Given the description of an element on the screen output the (x, y) to click on. 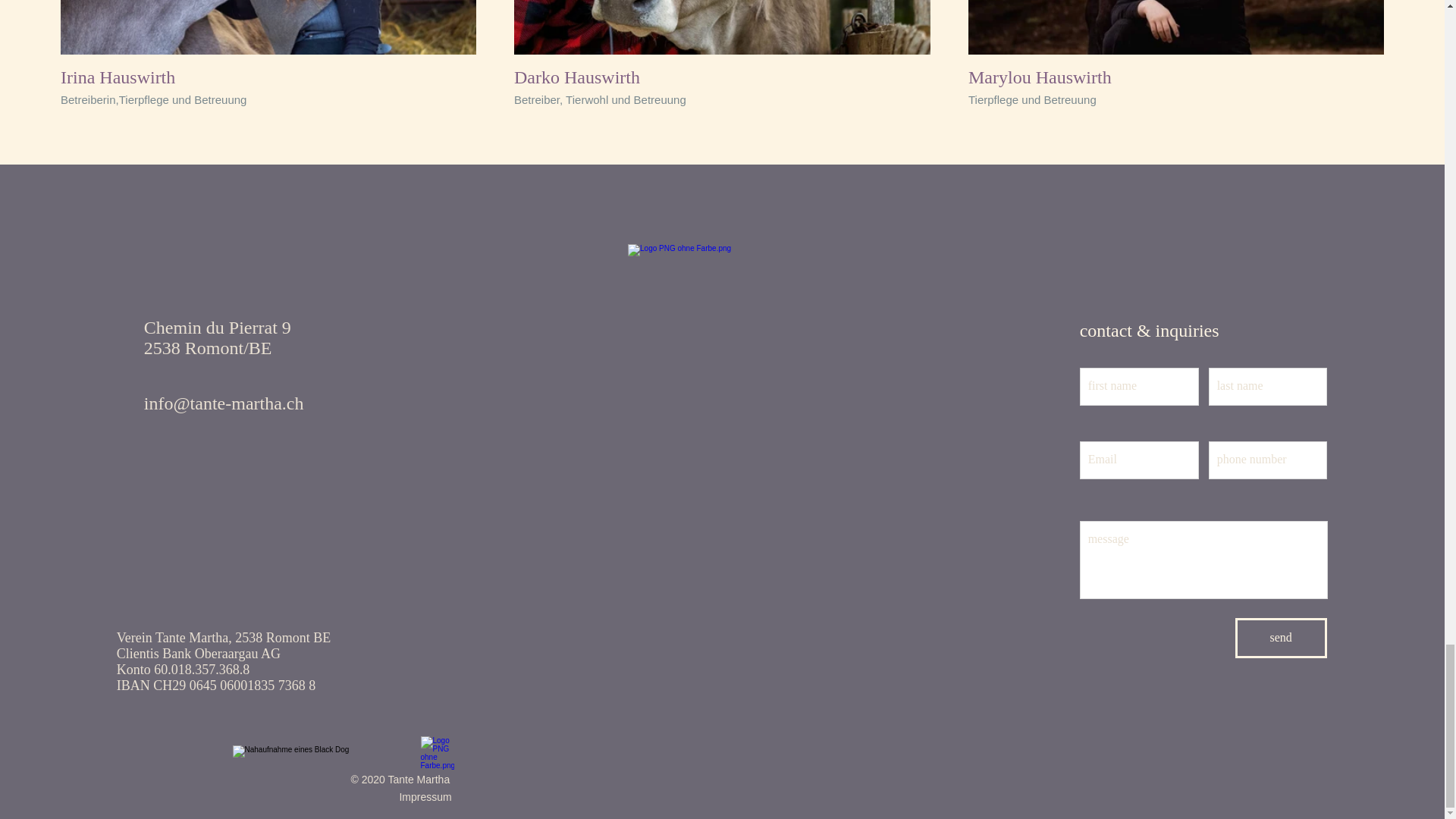
send (1280, 638)
 Impressum (423, 797)
